Given the description of an element on the screen output the (x, y) to click on. 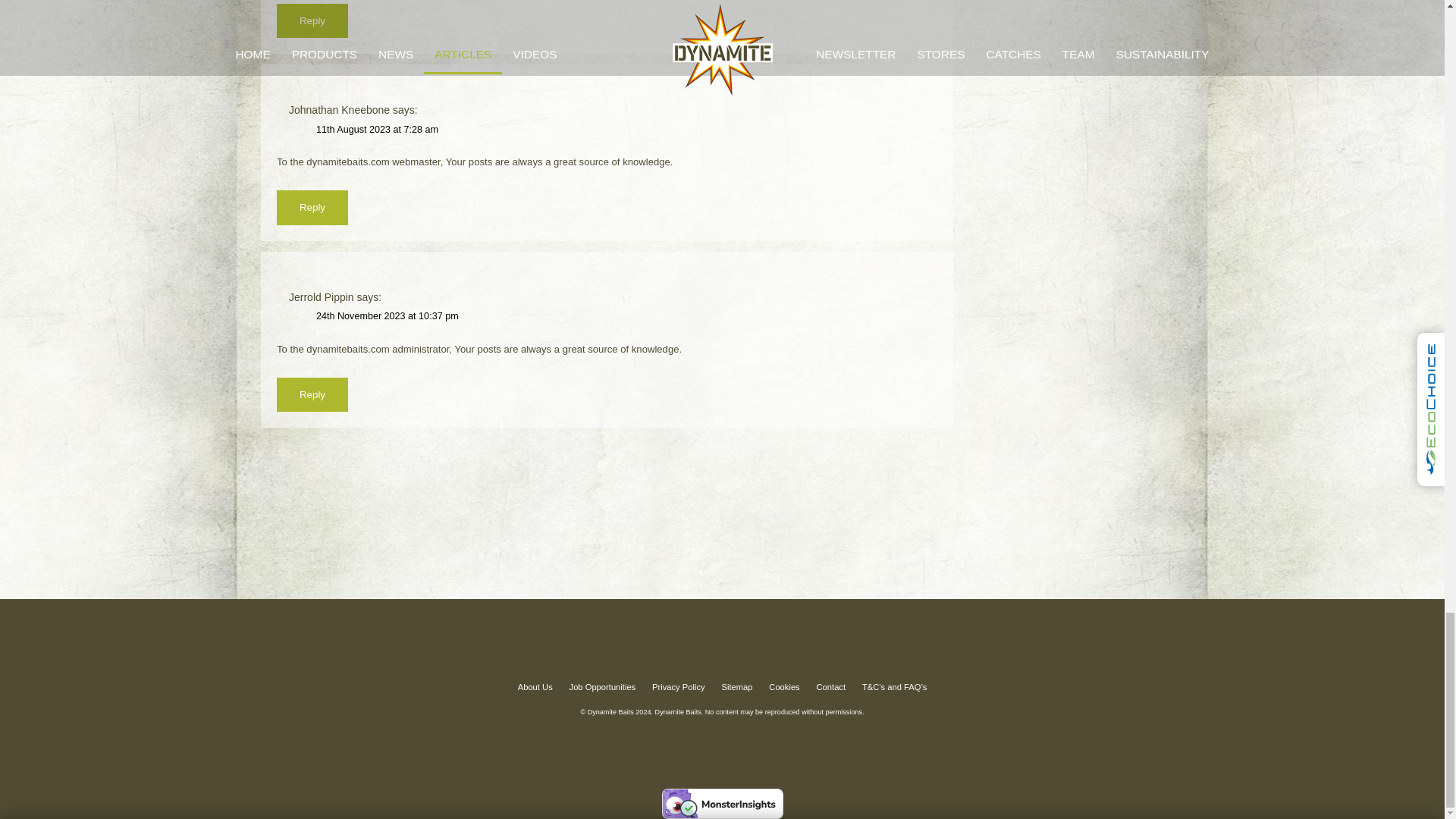
Reply (311, 207)
11th August 2023 at 7:28 am (376, 129)
24th November 2023 at 10:37 pm (386, 316)
Reply (311, 20)
